Given the description of an element on the screen output the (x, y) to click on. 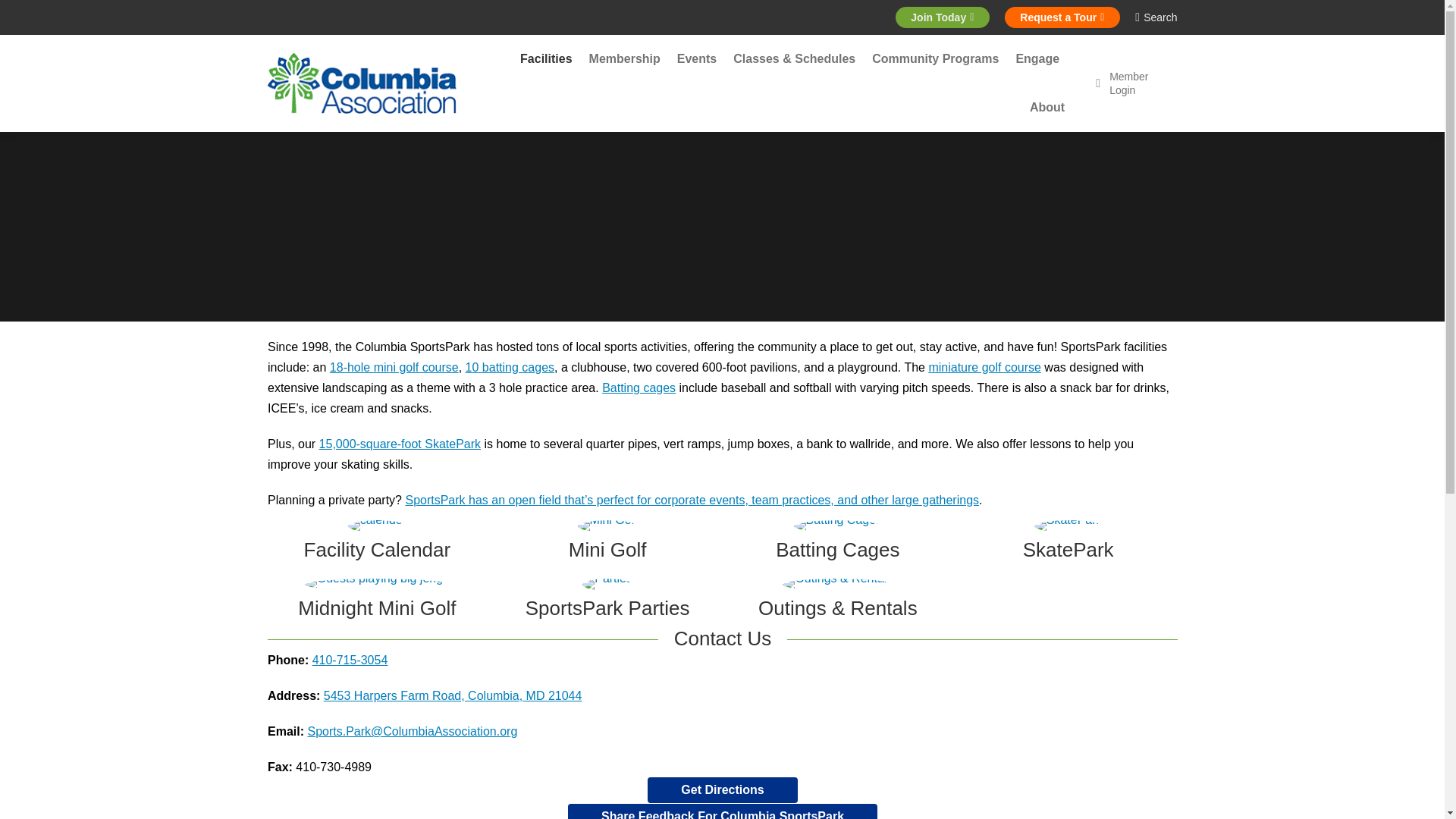
SkatePark (1068, 549)
Search (1155, 17)
Batting Cages (837, 549)
Columbia Association August 7, 2016. Mary F. Calvert (607, 526)
Go! (32, 16)
AAbattingCageTeen (837, 526)
Membership (624, 58)
Events (696, 58)
Facility Calendar (377, 549)
Facilities (545, 58)
